Given the description of an element on the screen output the (x, y) to click on. 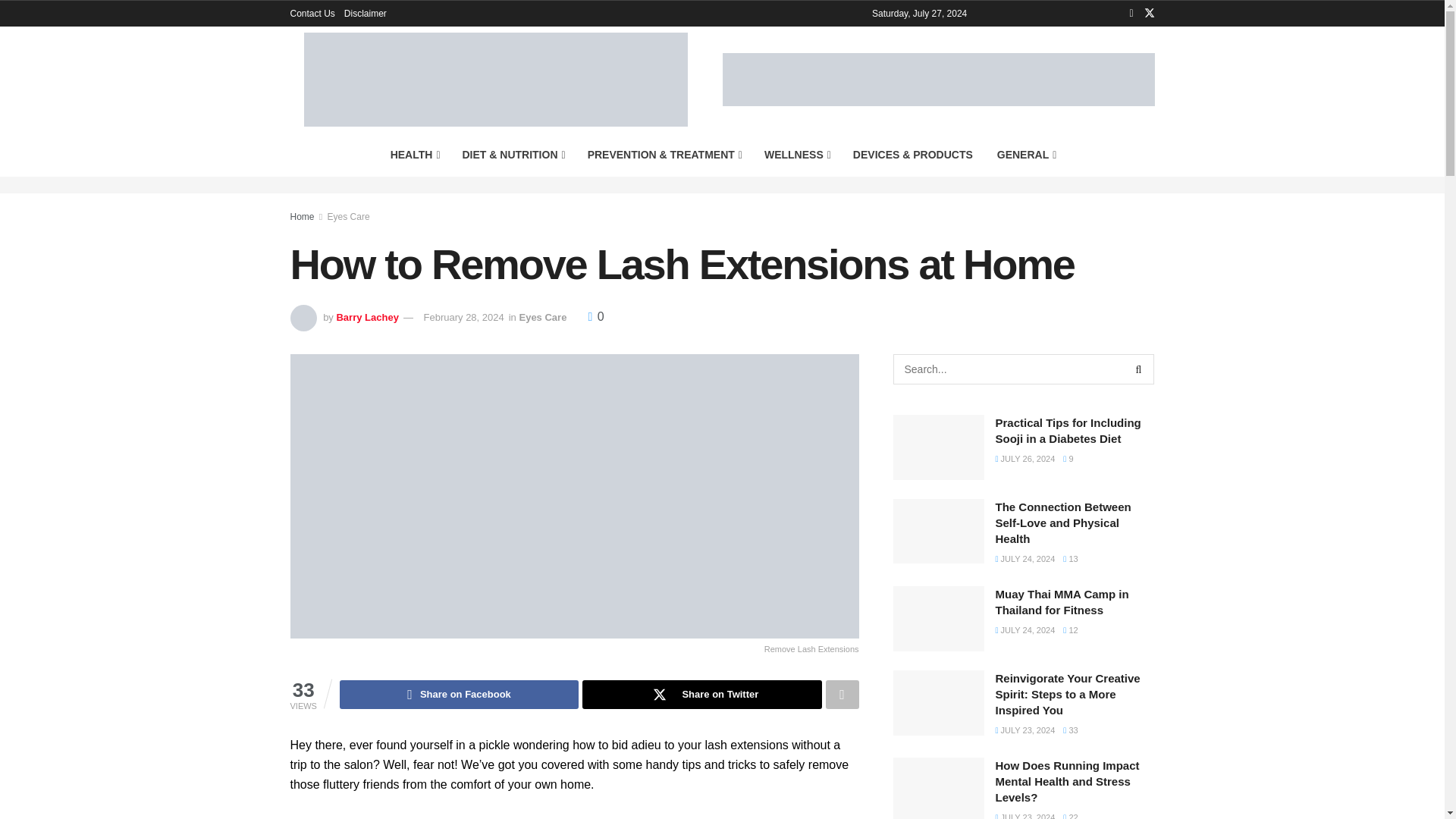
Contact Us (311, 13)
WELLNESS (796, 154)
HEALTH (413, 154)
Disclaimer (365, 13)
GENERAL (1026, 154)
